Given the description of an element on the screen output the (x, y) to click on. 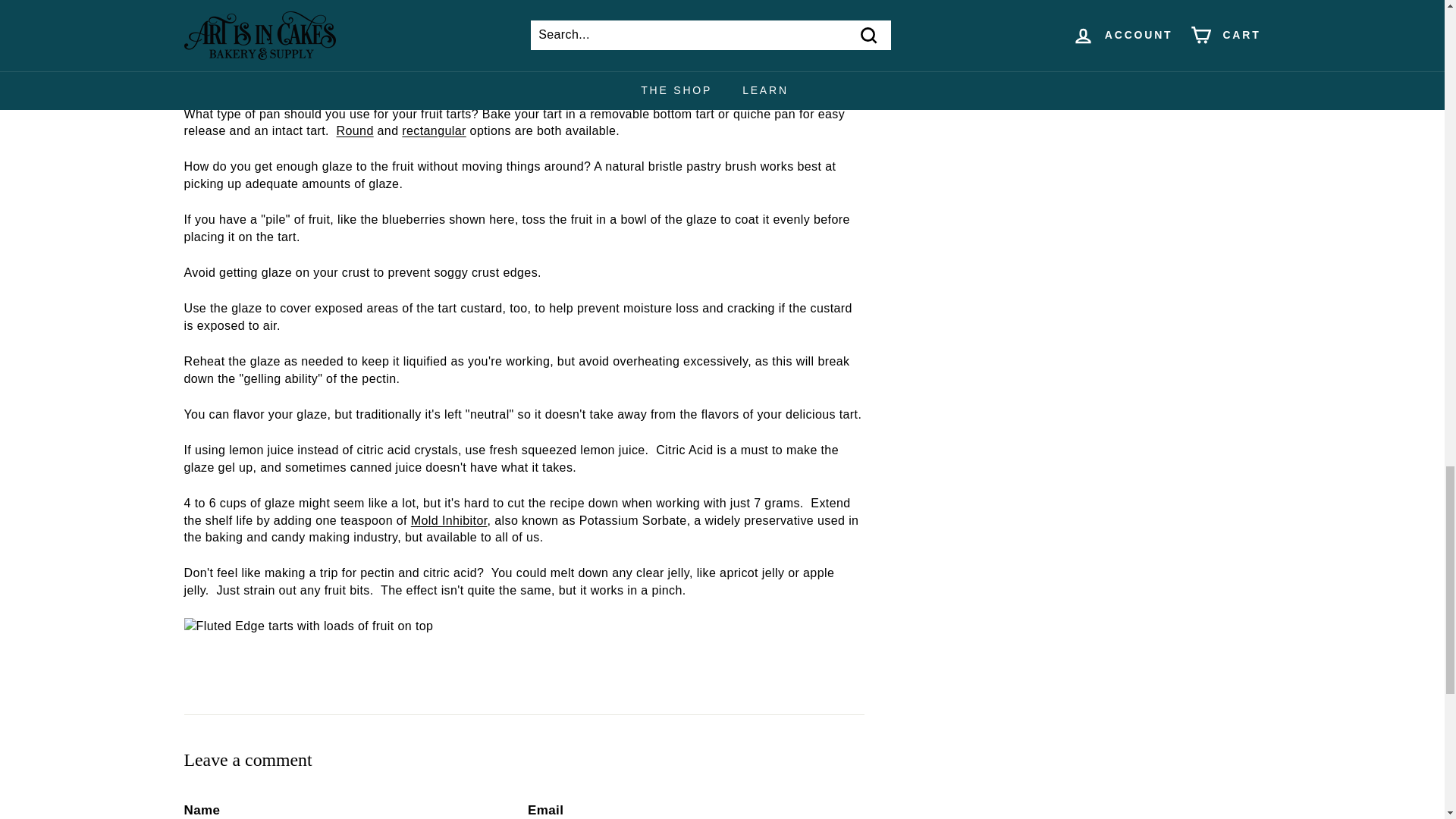
oblong tart pan with removable bottom (433, 130)
round tart pan (355, 130)
